Given the description of an element on the screen output the (x, y) to click on. 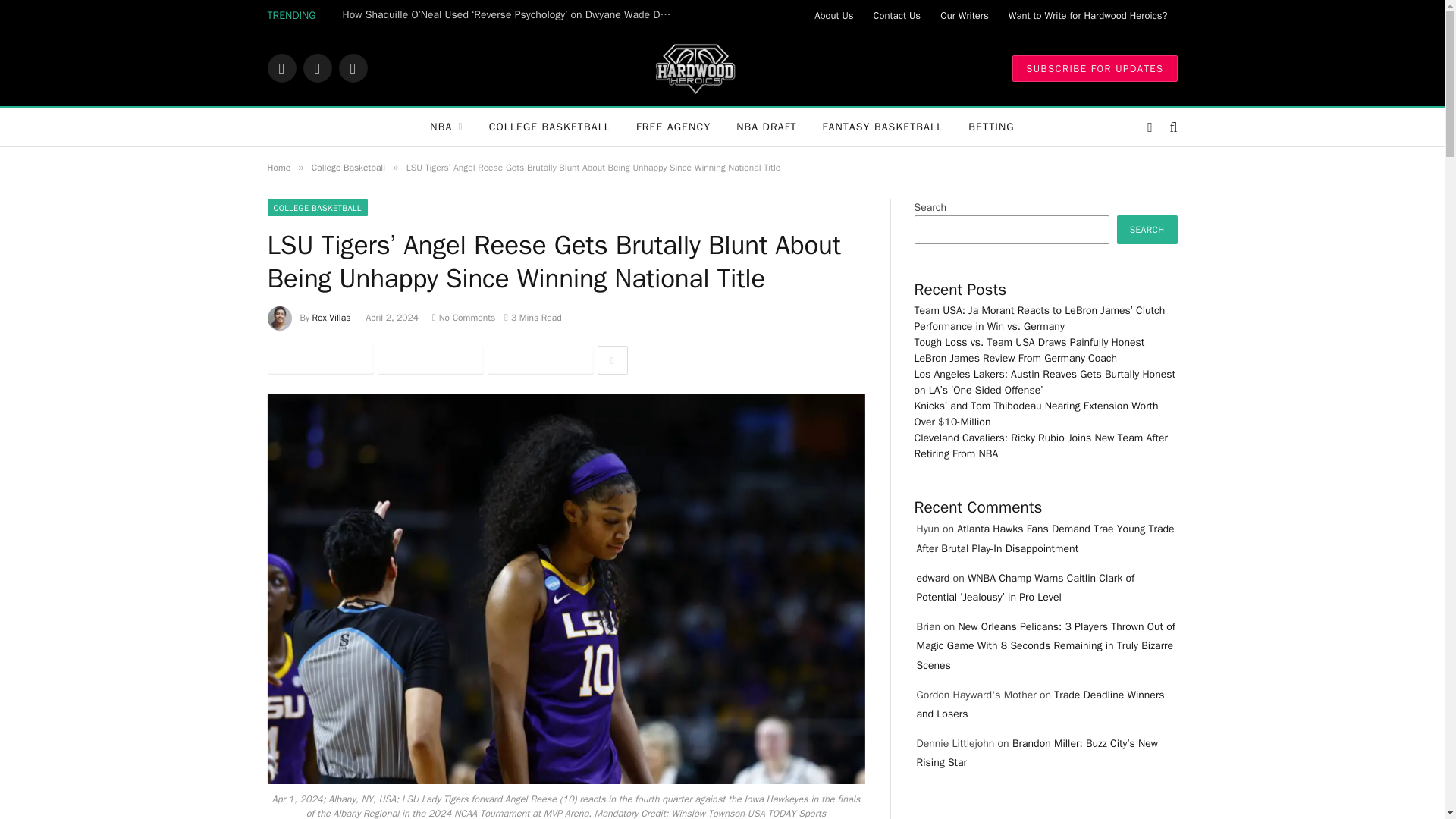
SUBSCRIBE FOR UPDATES (1093, 67)
Show More Social Sharing (611, 359)
Switch to Dark Design - easier on eyes. (1149, 127)
Twitter (316, 68)
Share on Pinterest (539, 359)
Our Writers (964, 15)
Instagram (351, 68)
Share on Facebook (319, 359)
Facebook (280, 68)
Contact Us (897, 15)
About Us (834, 15)
Want to Write for Hardwood Heroics? (1087, 15)
Posts by Rex Villas (331, 317)
NBA (446, 127)
